Given the description of an element on the screen output the (x, y) to click on. 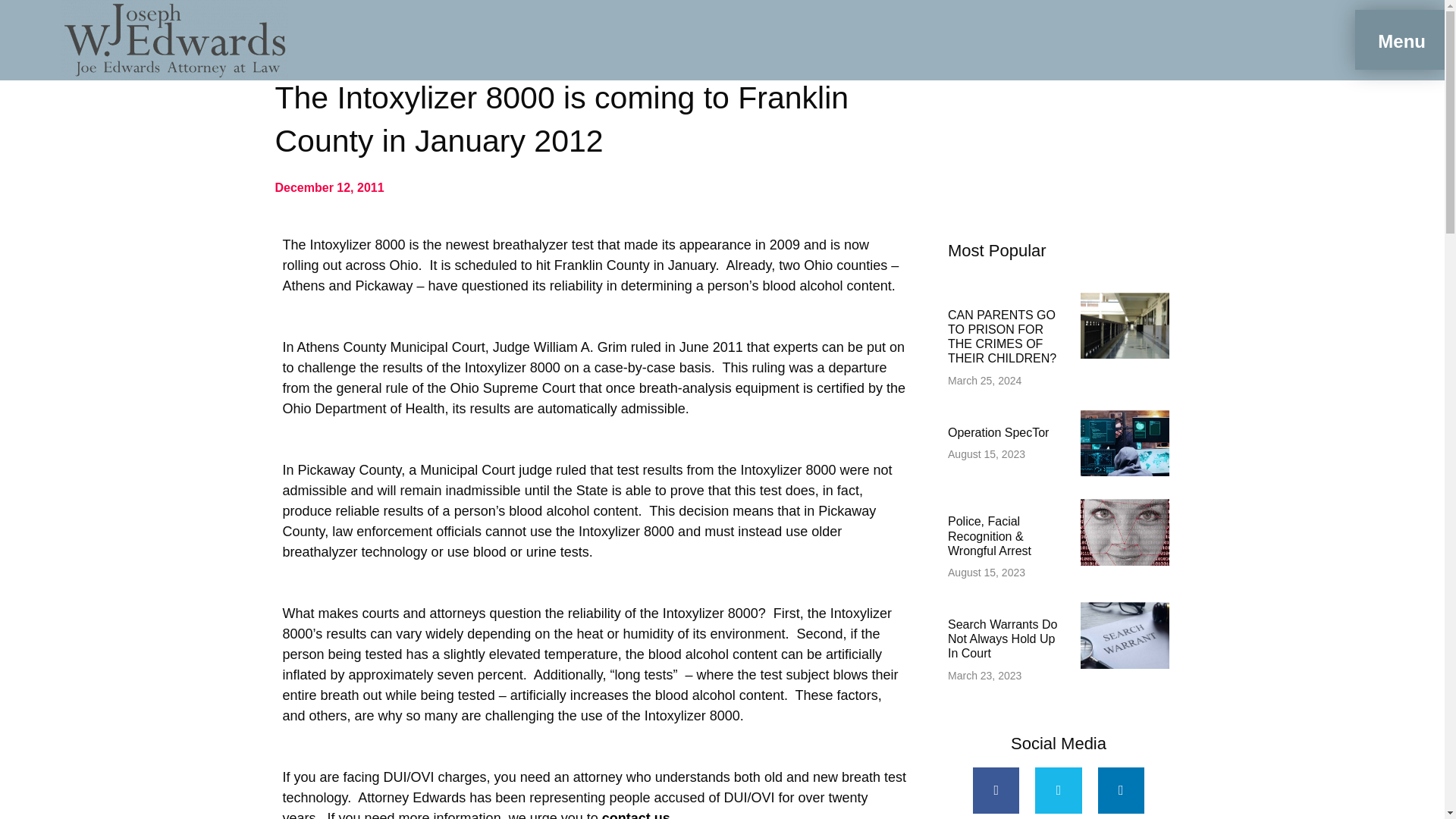
December 12, 2011 (329, 188)
Operation SpecTor (997, 431)
CAN PARENTS GO TO PRISON FOR THE CRIMES OF THEIR CHILDREN? (1002, 336)
Contact Edwards Law (635, 814)
contact us (635, 814)
Search Warrants Do Not Always Hold Up In Court (1002, 639)
